Given the description of an element on the screen output the (x, y) to click on. 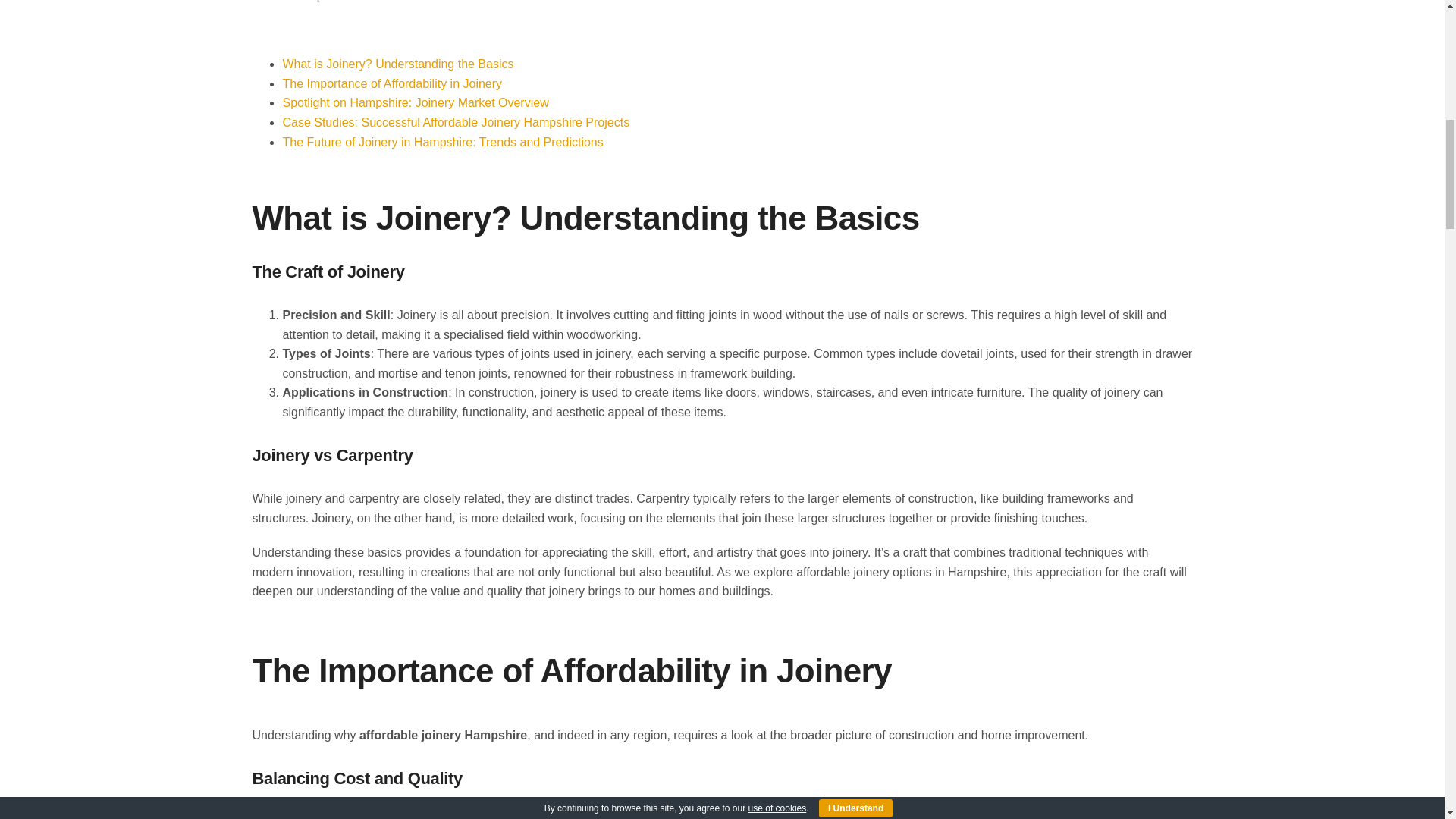
What is Joinery? Understanding the Basics (397, 63)
Spotlight on Hampshire: Joinery Market Overview (415, 102)
The Future of Joinery in Hampshire: Trends and Predictions (442, 141)
The Importance of Affordability in Joinery (392, 83)
